Given the description of an element on the screen output the (x, y) to click on. 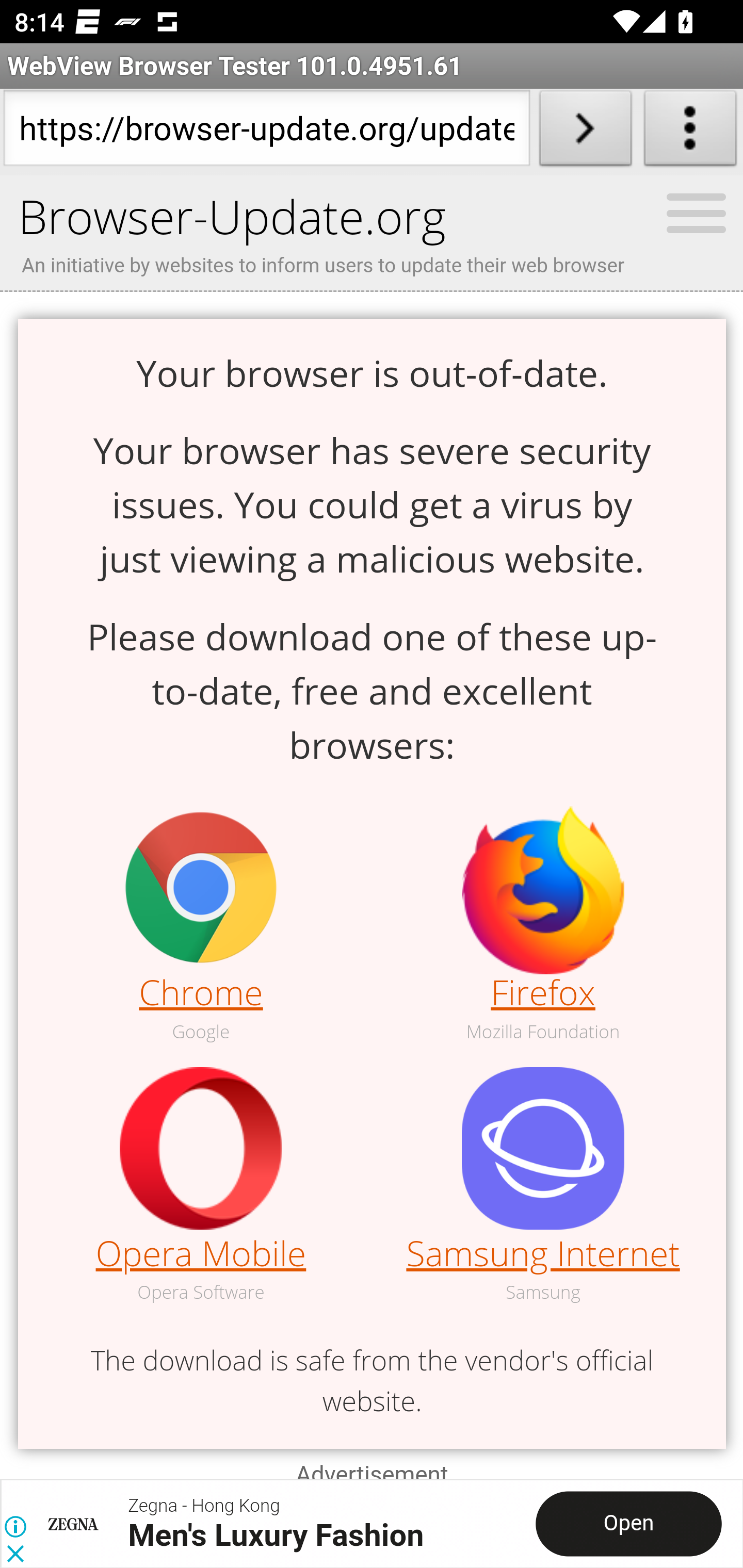
Load URL (585, 132)
About WebView (690, 132)
Chrome Google Chrome Google (201, 926)
Samsung Internet Samsung Samsung Internet Samsung (543, 1186)
